Given the description of an element on the screen output the (x, y) to click on. 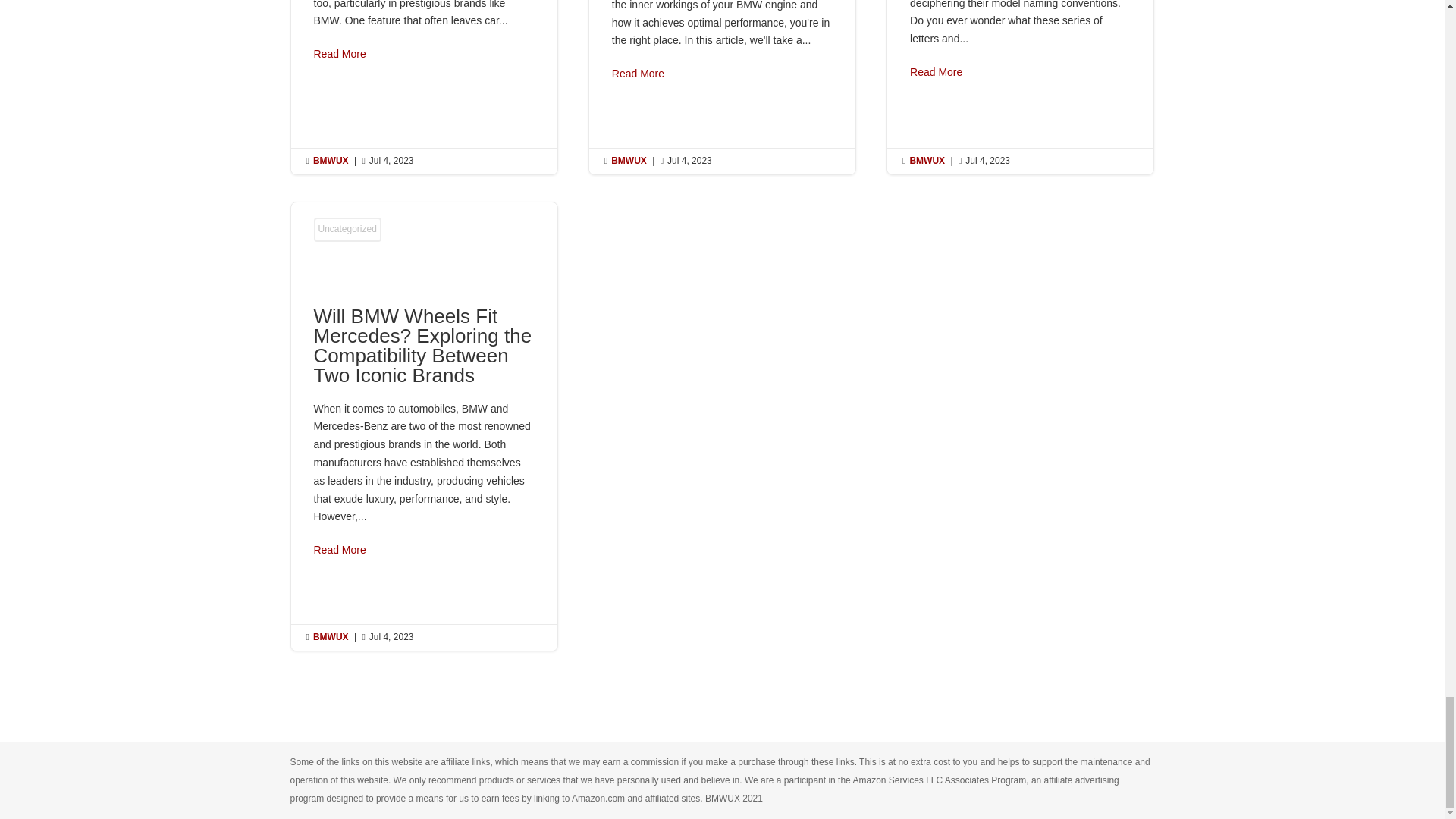
Posts by BMWUX (628, 160)
Posts by BMWUX (331, 636)
Posts by BMWUX (926, 160)
Posts by BMWUX (331, 160)
